Given the description of an element on the screen output the (x, y) to click on. 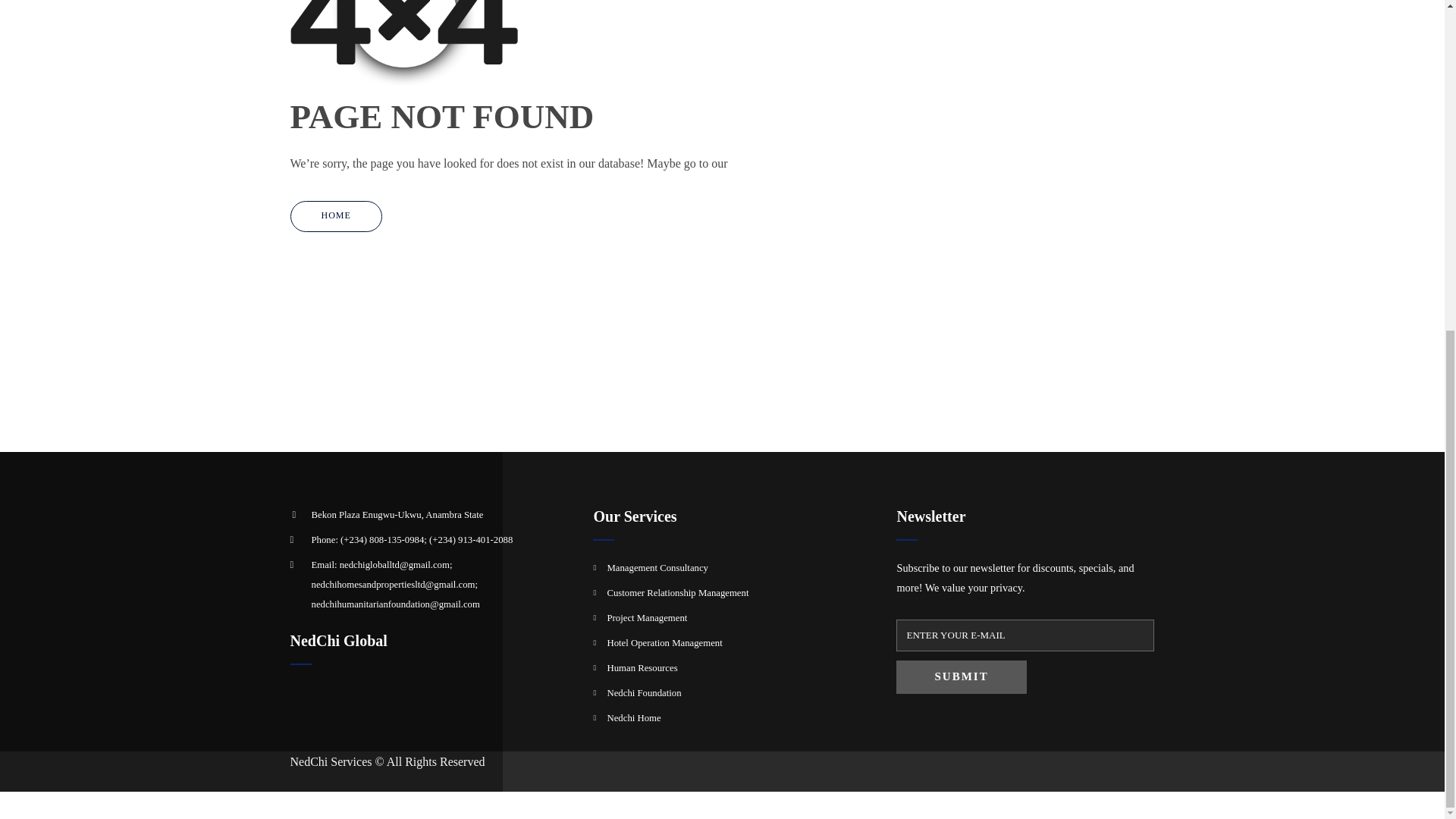
Enter Your E-mail (1025, 635)
Project Management (647, 617)
Management Consultancy (657, 567)
Nedchi Foundation (644, 692)
Nedchi Home (634, 717)
Customer Relationship Management (677, 593)
Hotel Operation Management (664, 643)
HOME (335, 215)
SUBMIT (961, 676)
Human Resources (642, 667)
